Given the description of an element on the screen output the (x, y) to click on. 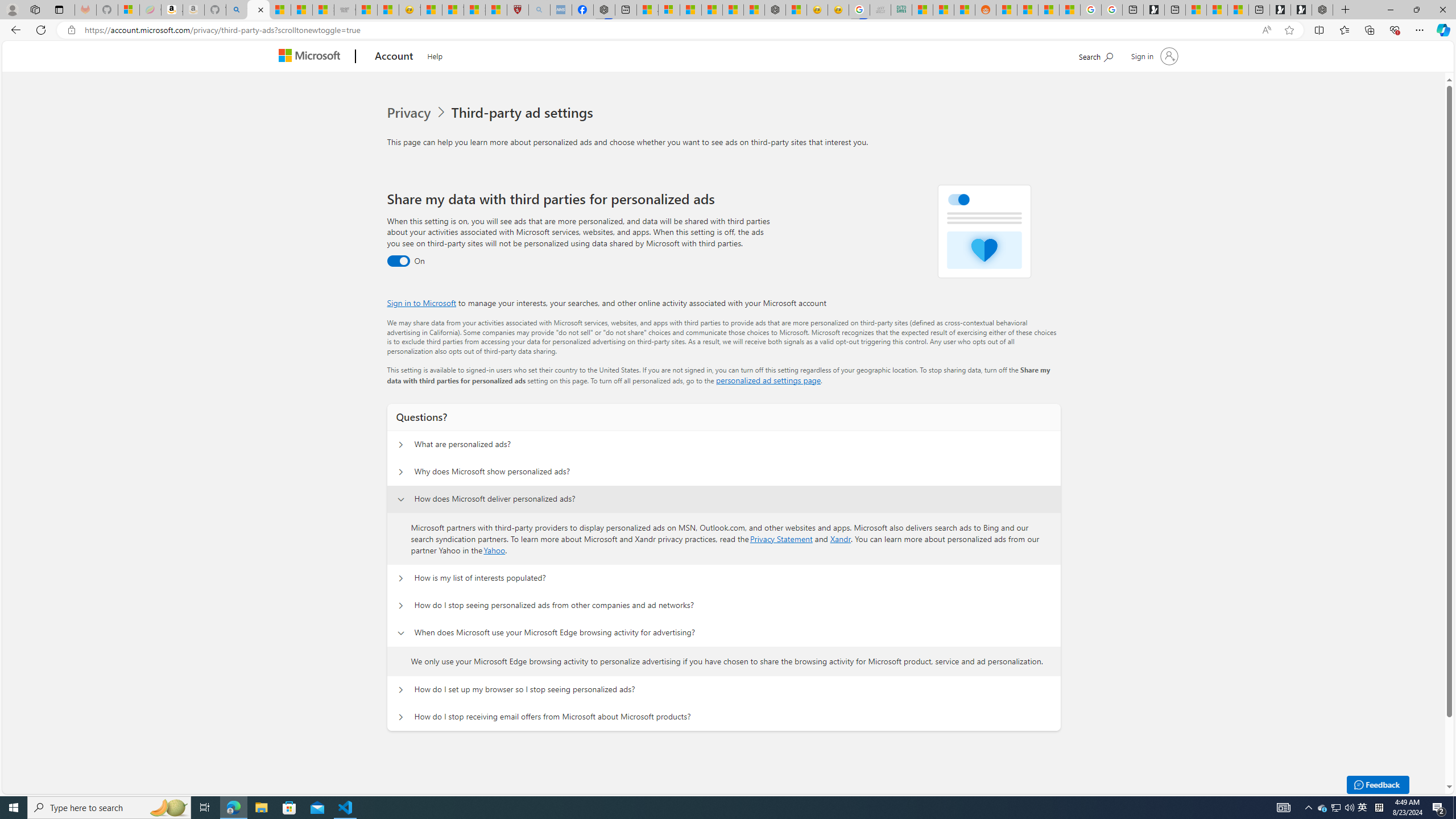
Account (394, 56)
Search Microsoft.com (1095, 54)
